Given the description of an element on the screen output the (x, y) to click on. 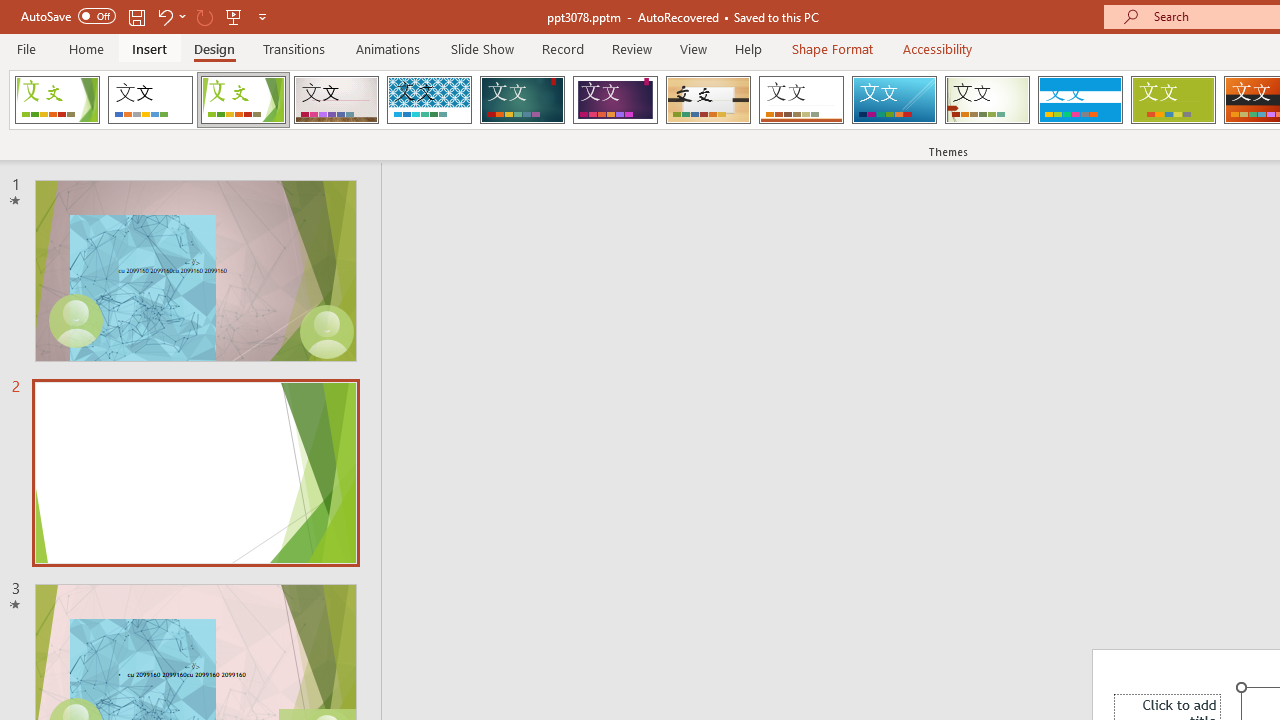
Banded (1080, 100)
Wisp (987, 100)
Basis (1172, 100)
Organic (708, 100)
